Given the description of an element on the screen output the (x, y) to click on. 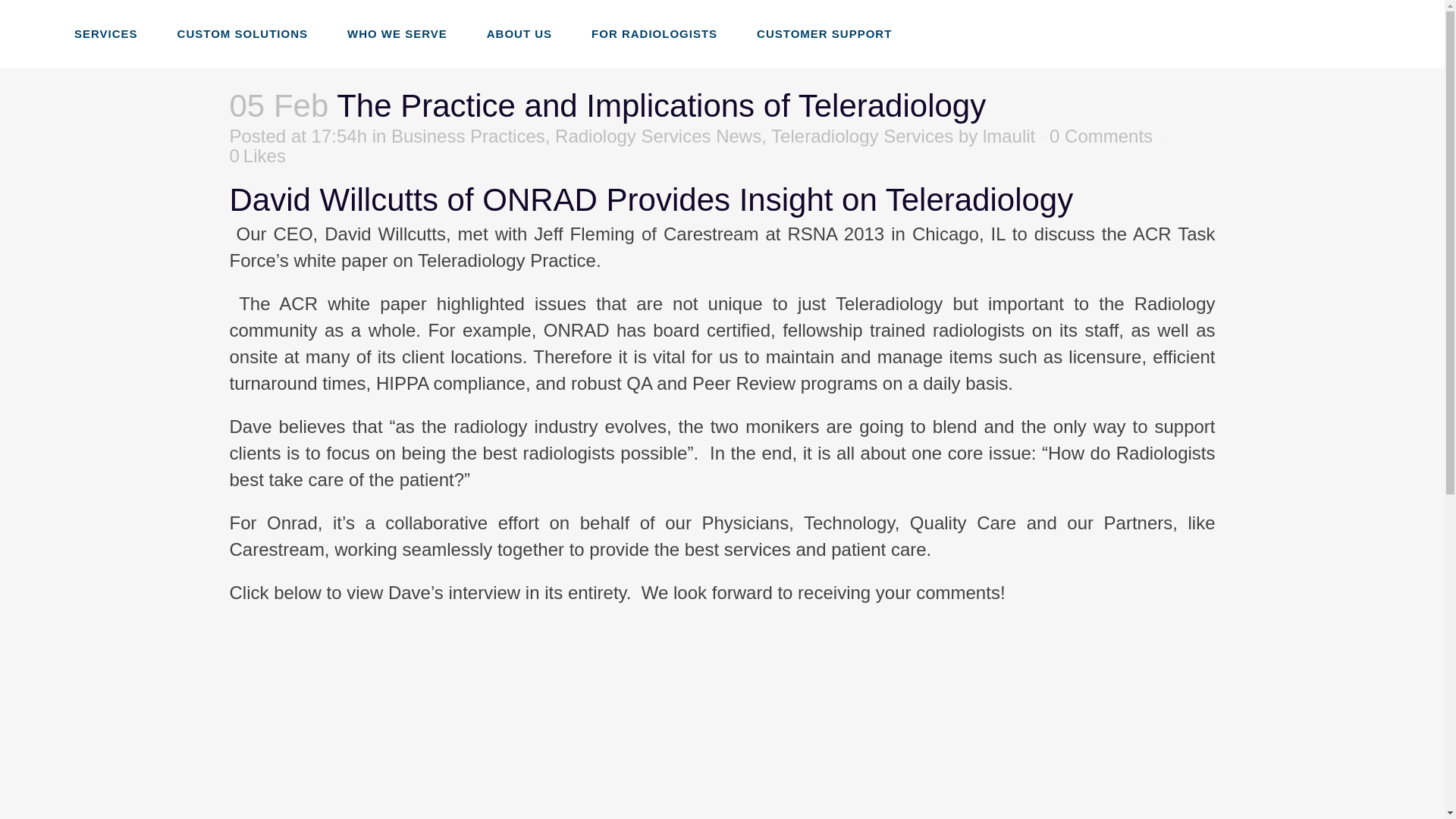
SERVICES (106, 33)
FOR RADIOLOGISTS (654, 33)
WHO WE SERVE (397, 33)
Like this (256, 155)
CUSTOMER SUPPORT (823, 33)
ABOUT US (519, 33)
CUSTOM SOLUTIONS (242, 33)
